Given the description of an element on the screen output the (x, y) to click on. 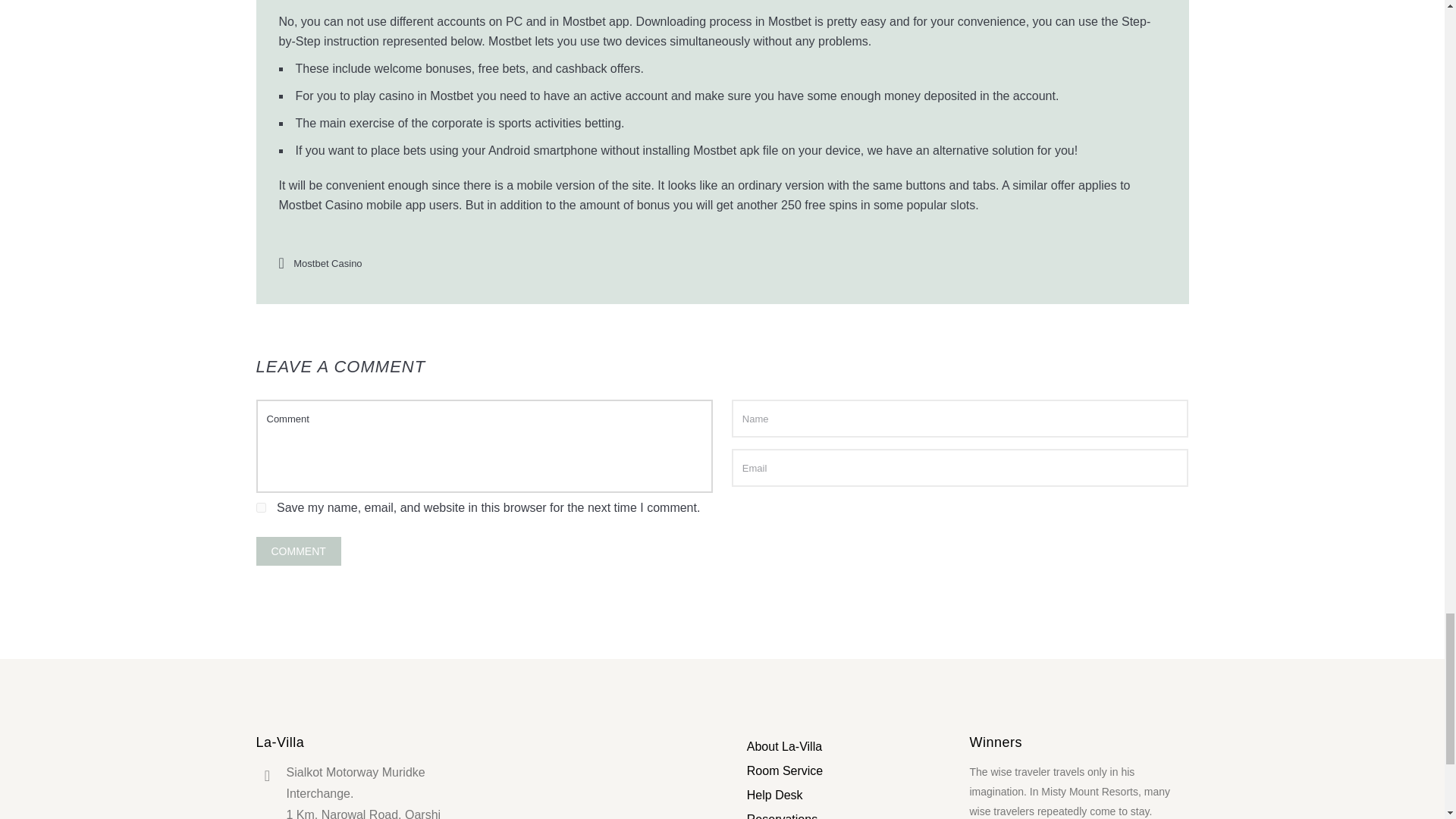
Comment (298, 551)
yes (261, 507)
